Given the description of an element on the screen output the (x, y) to click on. 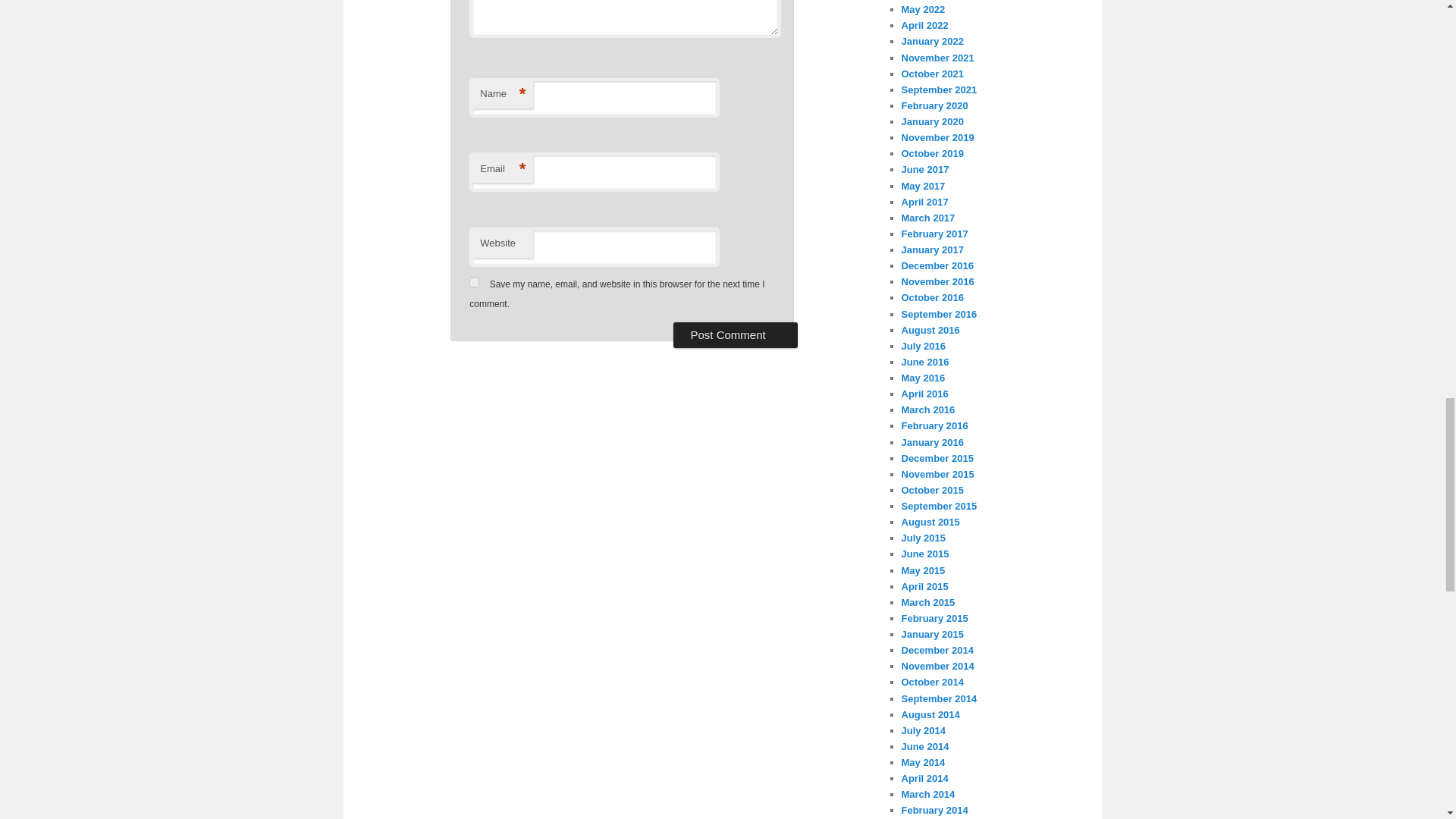
April 2022 (924, 25)
February 2020 (934, 105)
September 2021 (938, 89)
Post Comment (734, 335)
January 2022 (931, 41)
May 2022 (922, 9)
yes (473, 282)
October 2021 (931, 73)
Post Comment (734, 335)
November 2021 (937, 57)
